Given the description of an element on the screen output the (x, y) to click on. 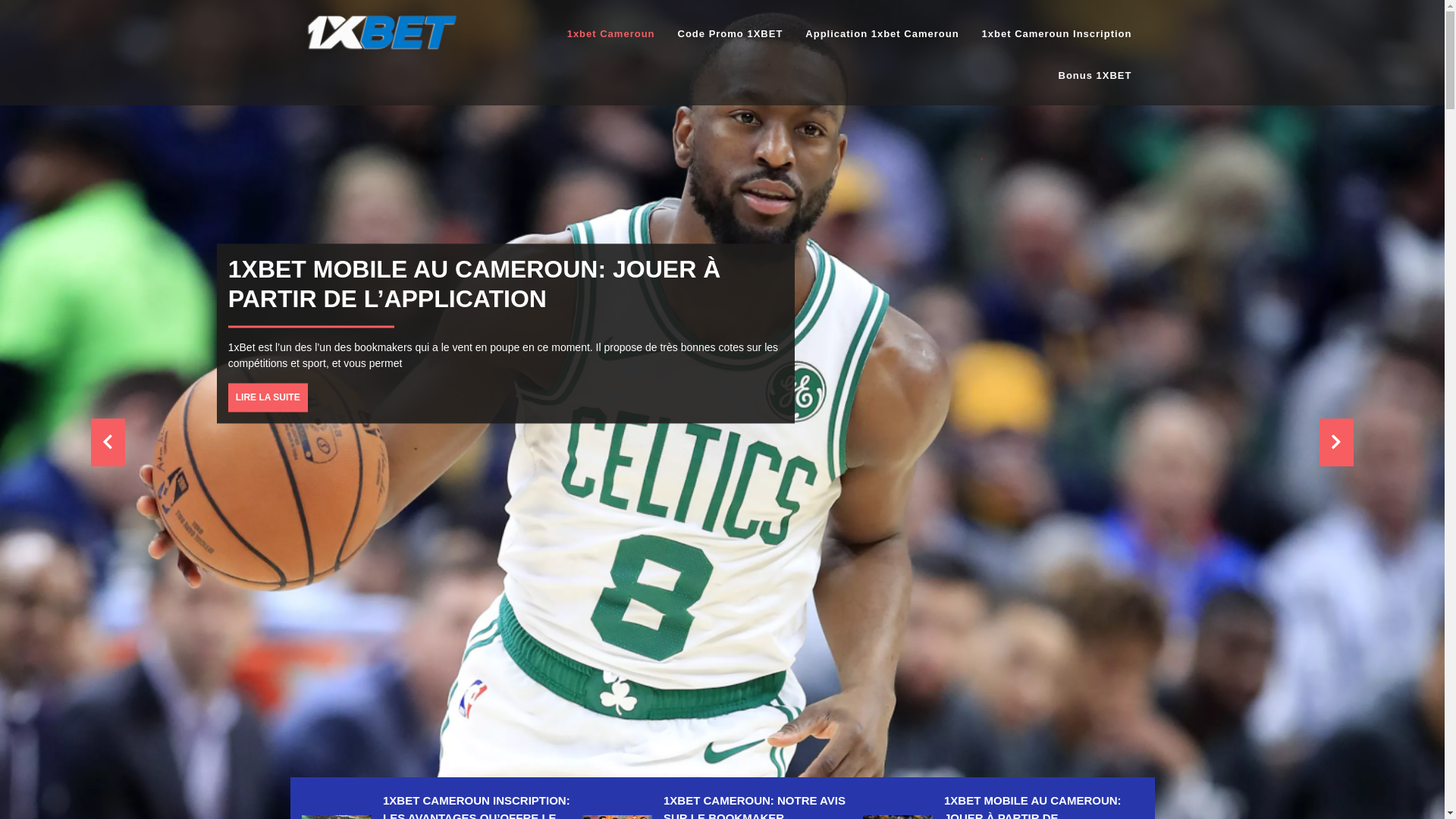
1xbet Cameroun Inscription Element type: text (1056, 33)
Code Promo 1XBET Element type: text (730, 33)
1xbet Cameroun Element type: text (610, 33)
Bonus 1XBET Element type: text (1095, 75)
LIRE LA SUITE
LIRE LA SUITE Element type: text (812, 396)
Application 1xbet Cameroun Element type: text (881, 33)
